Given the description of an element on the screen output the (x, y) to click on. 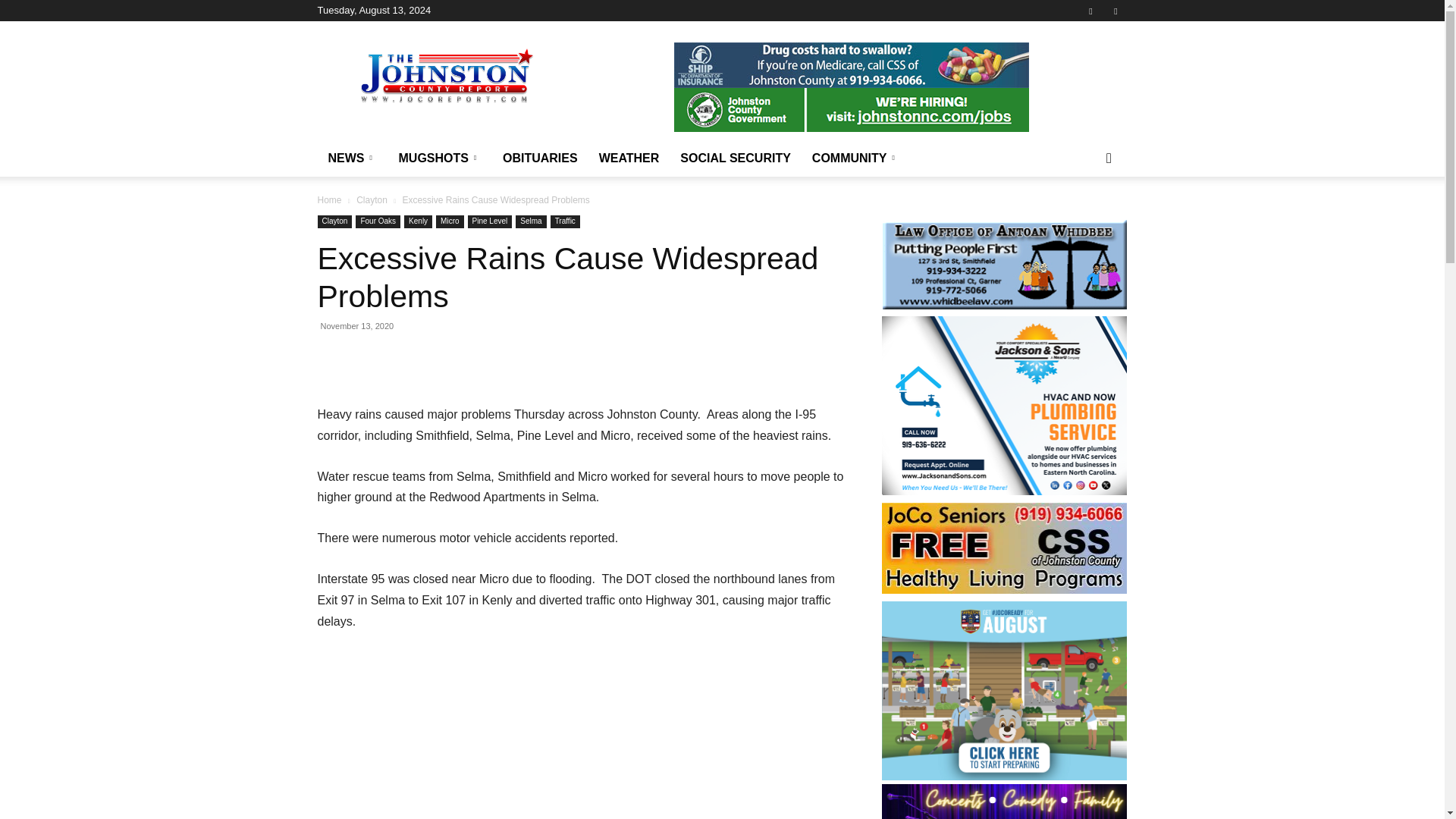
Johnston County Report (445, 76)
View all posts in Clayton (371, 199)
Twitter (1114, 10)
Facebook (1090, 10)
